Given the description of an element on the screen output the (x, y) to click on. 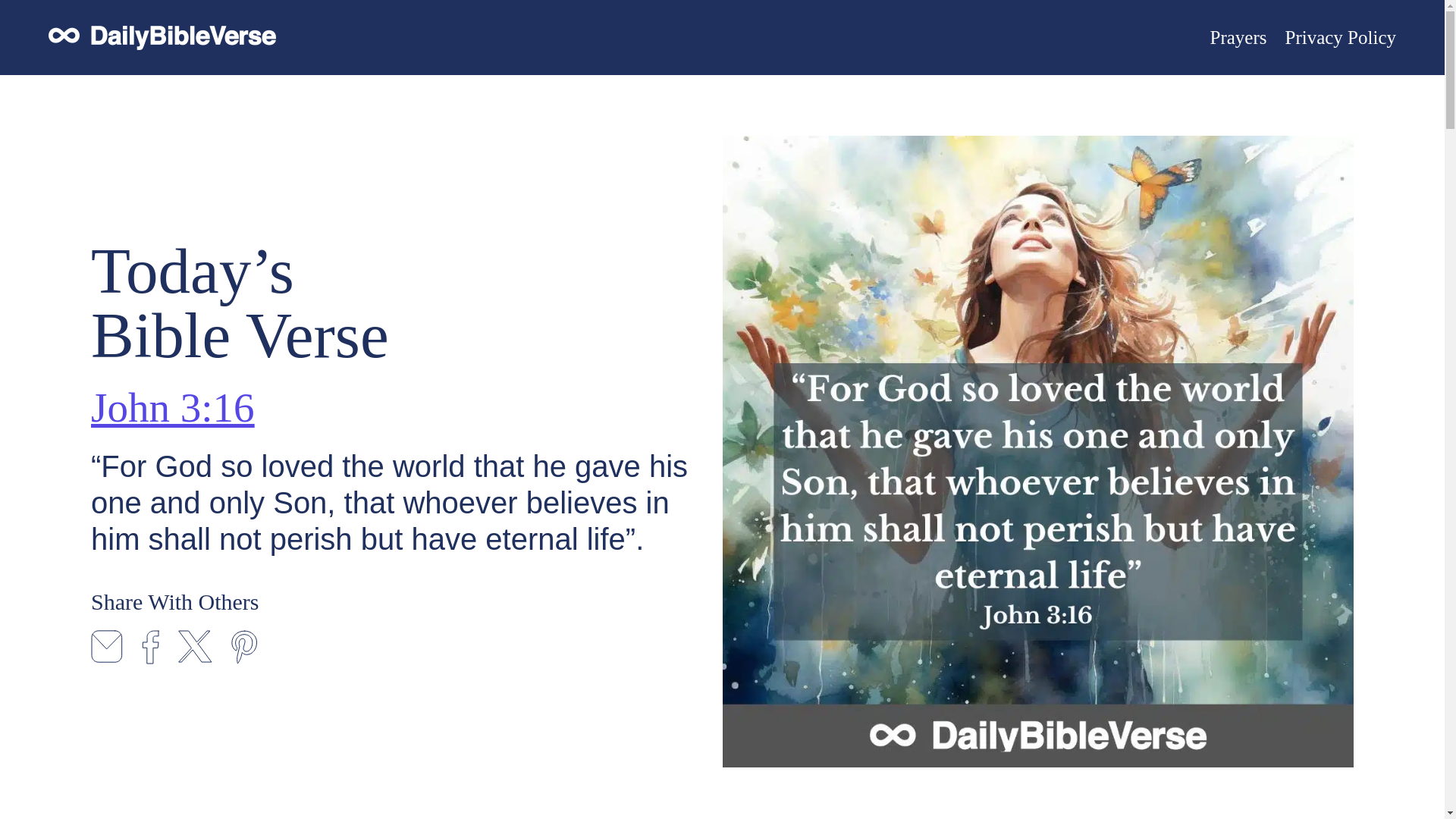
Prayers (1237, 37)
John 3:16 (171, 406)
Privacy Policy (1340, 37)
